Given the description of an element on the screen output the (x, y) to click on. 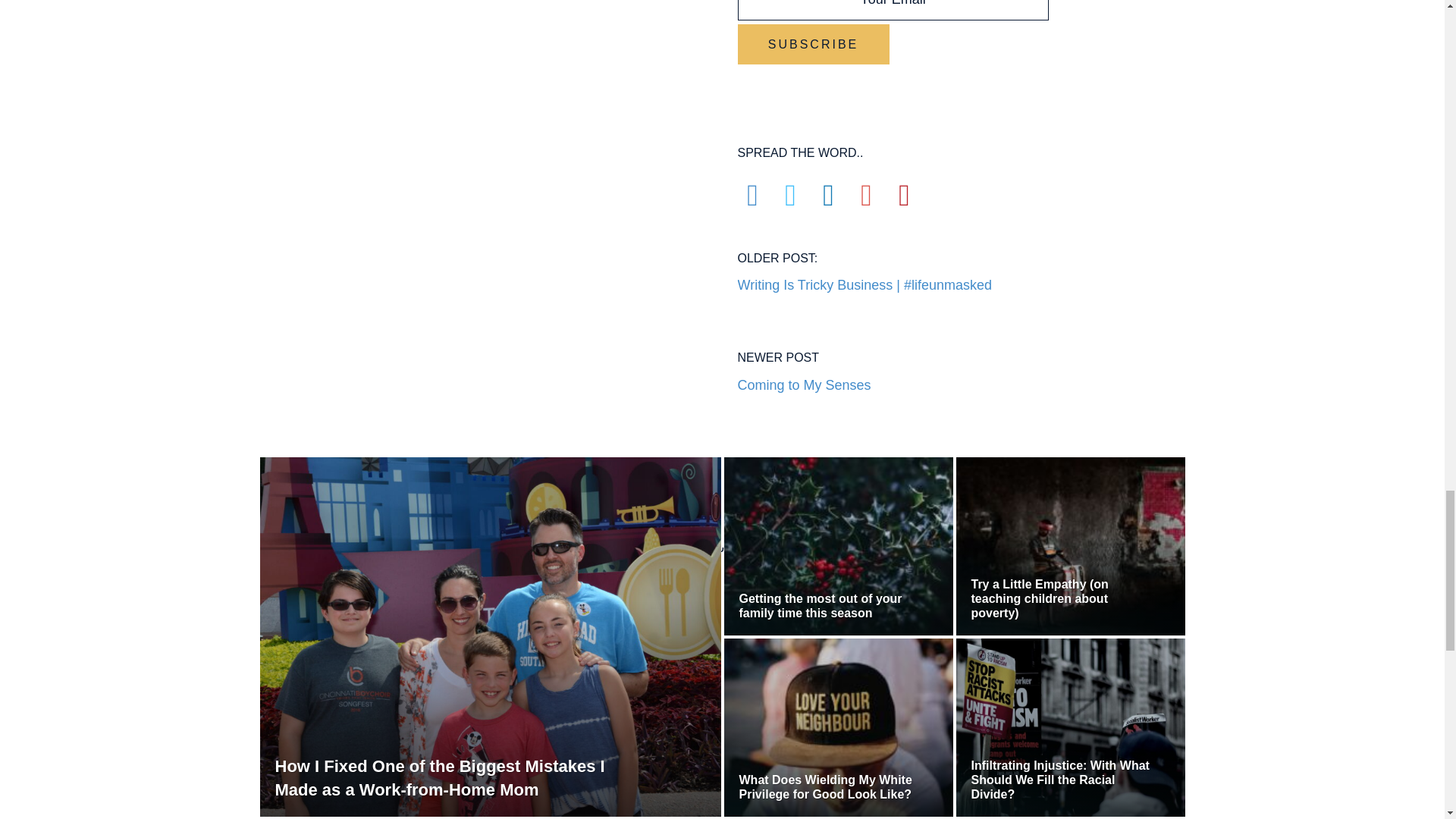
Subscribe (812, 44)
Getting the most out of your family time this season (829, 605)
joy-w-bennett-blog-keep-reading (722, 553)
What Does Wielding My White Privilege for Good Look Like? (829, 787)
Subscribe (812, 44)
Getting the most out of your family time this season (803, 364)
What Does Wielding My White Privilege for Good Look Like? (829, 605)
